Given the description of an element on the screen output the (x, y) to click on. 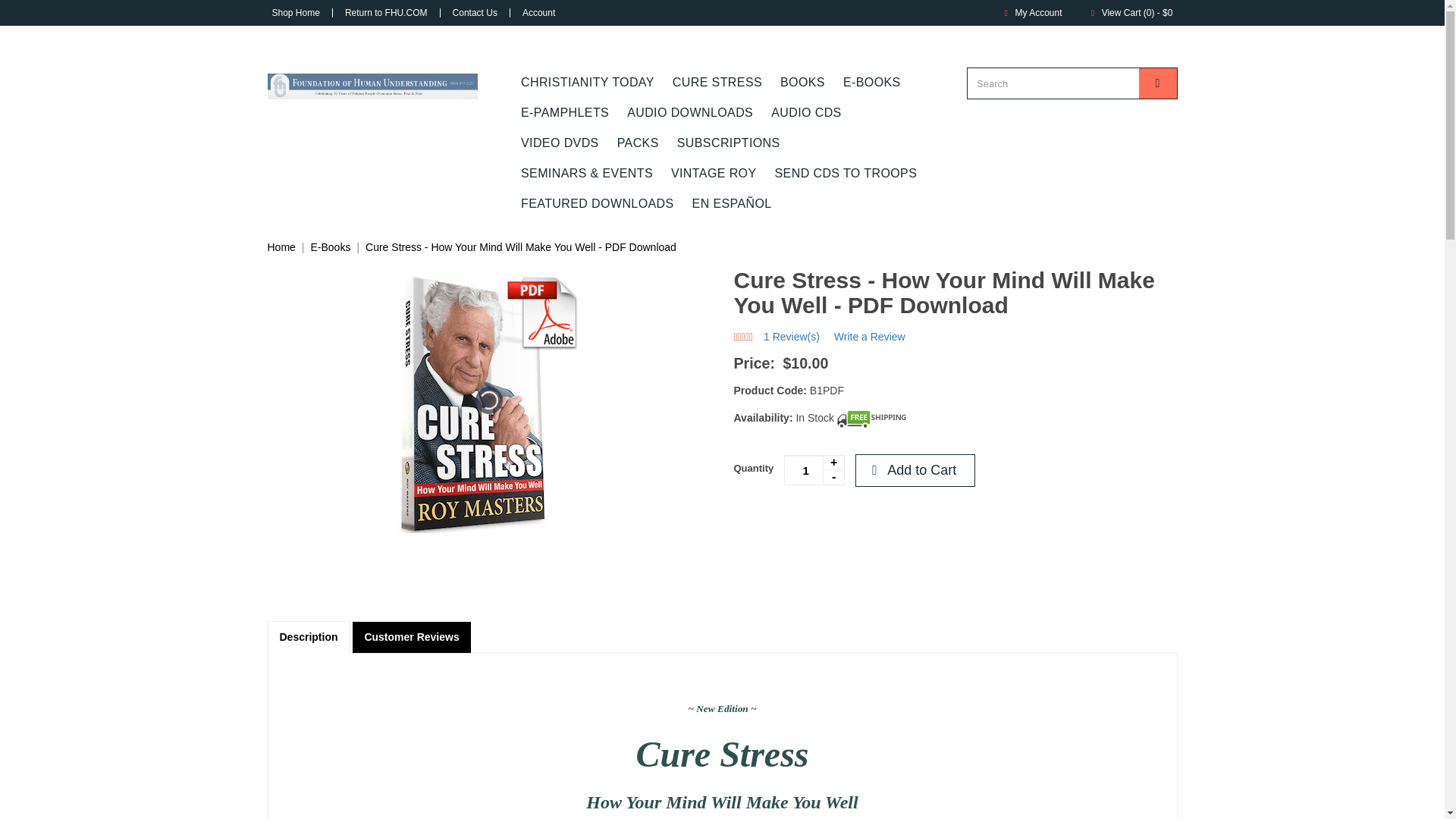
AUDIO CDS (805, 112)
BOOKS (802, 82)
My Account (1029, 12)
SUBSCRIPTIONS (728, 142)
1 (814, 470)
VINTAGE ROY (713, 173)
CHRISTIANITY TODAY (587, 82)
E-PAMPHLETS (564, 112)
AUDIO DOWNLOADS (689, 112)
